Given the description of an element on the screen output the (x, y) to click on. 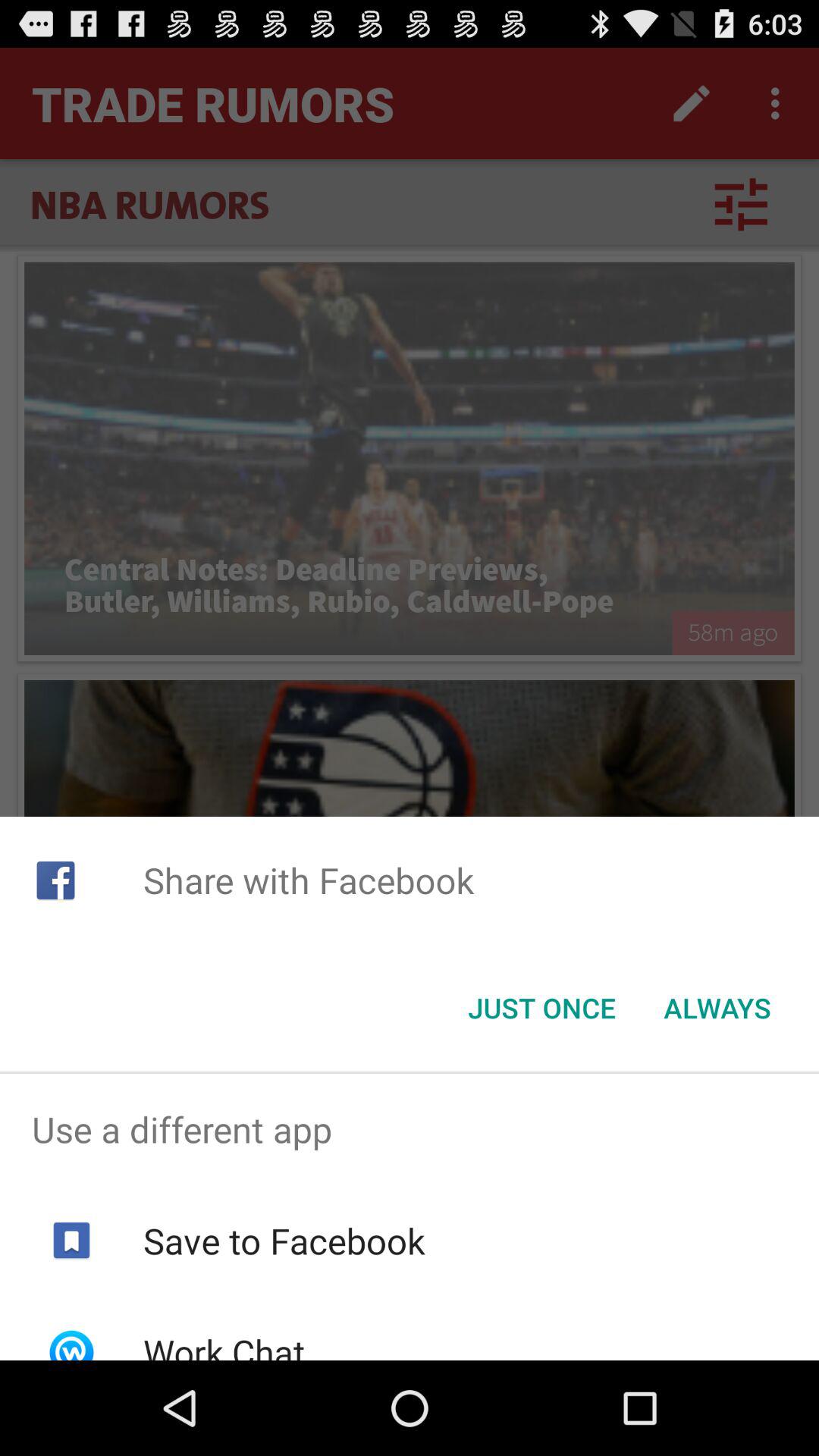
turn on icon above save to facebook app (409, 1129)
